Given the description of an element on the screen output the (x, y) to click on. 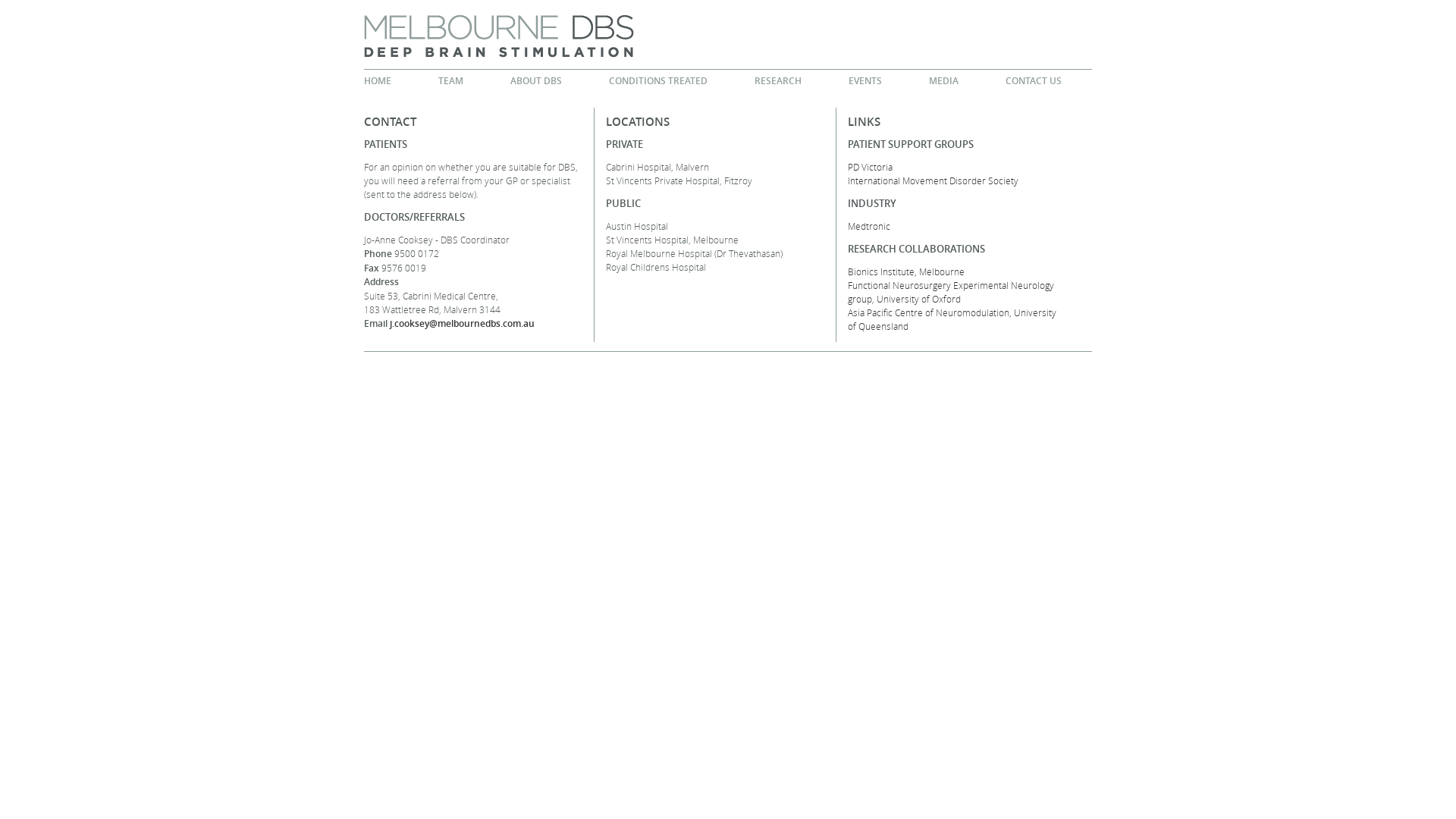
ABOUT DBS Element type: text (535, 80)
j.cooksey@melbournedbs.com.au Element type: text (461, 322)
TEAM Element type: text (450, 80)
PD Victoria Element type: text (869, 166)
Medtronic Element type: text (868, 225)
CONDITIONS TREATED Element type: text (658, 80)
CONTACT US Element type: text (1033, 80)
Bionics Institute, Melbourne Element type: text (905, 271)
EVENTS Element type: text (864, 80)
RESEARCH Element type: text (777, 80)
MEDIA Element type: text (943, 80)
HOME Element type: text (384, 80)
International Movement Disorder Society Element type: text (932, 180)
